Given the description of an element on the screen output the (x, y) to click on. 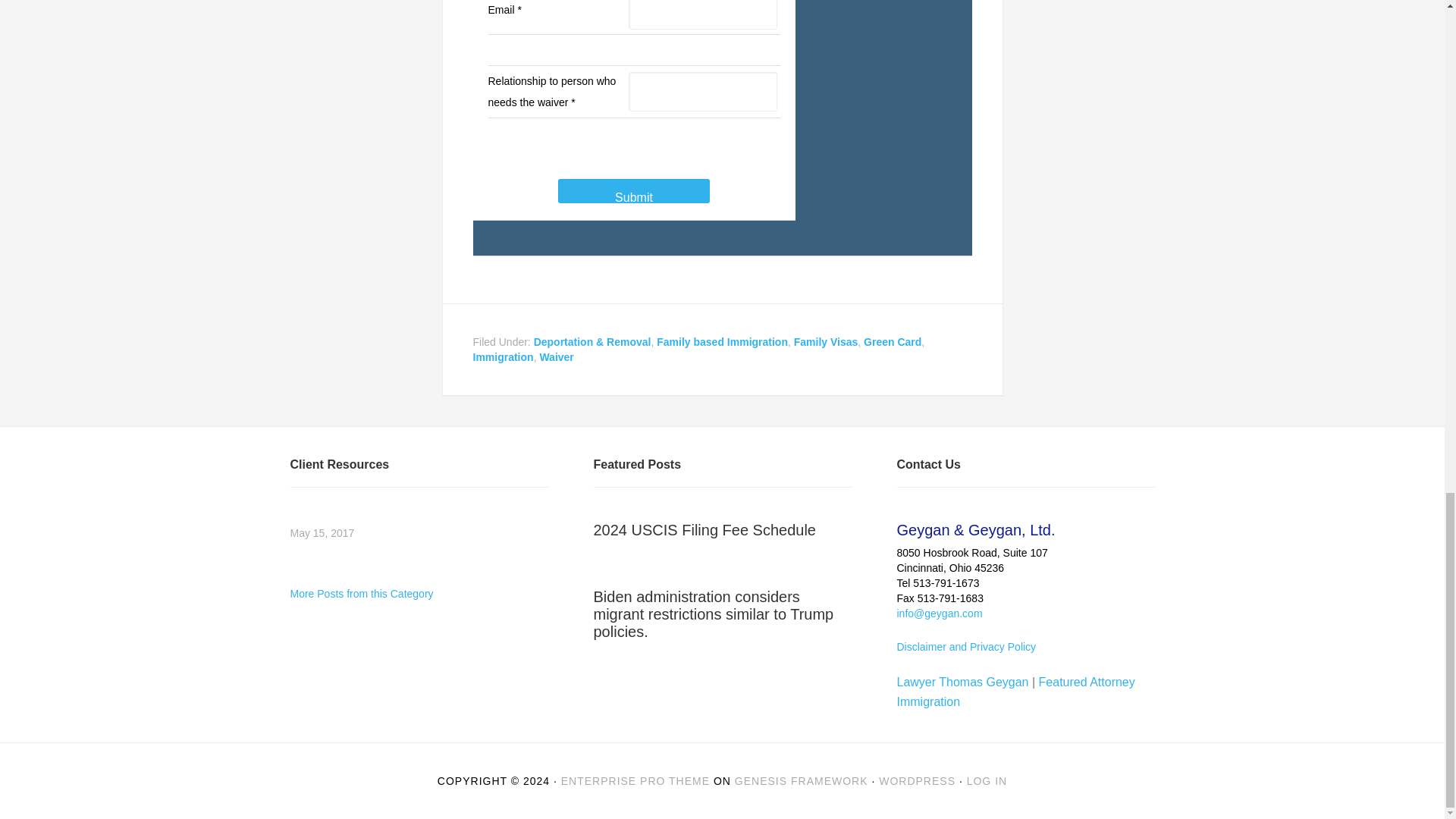
2024 USCIS Filing Fee Schedule (703, 529)
LOG IN (986, 780)
ENTERPRISE PRO THEME (635, 780)
GENESIS FRAMEWORK (801, 780)
Lawyer Thomas Geygan (961, 681)
More Posts from this Category (360, 593)
Waiver (555, 357)
Featured Attorney Immigration (1015, 691)
Green Card (892, 341)
Submit (633, 191)
WORDPRESS (917, 780)
Family Visas (826, 341)
Submit (633, 191)
Testimonials (360, 593)
